Given the description of an element on the screen output the (x, y) to click on. 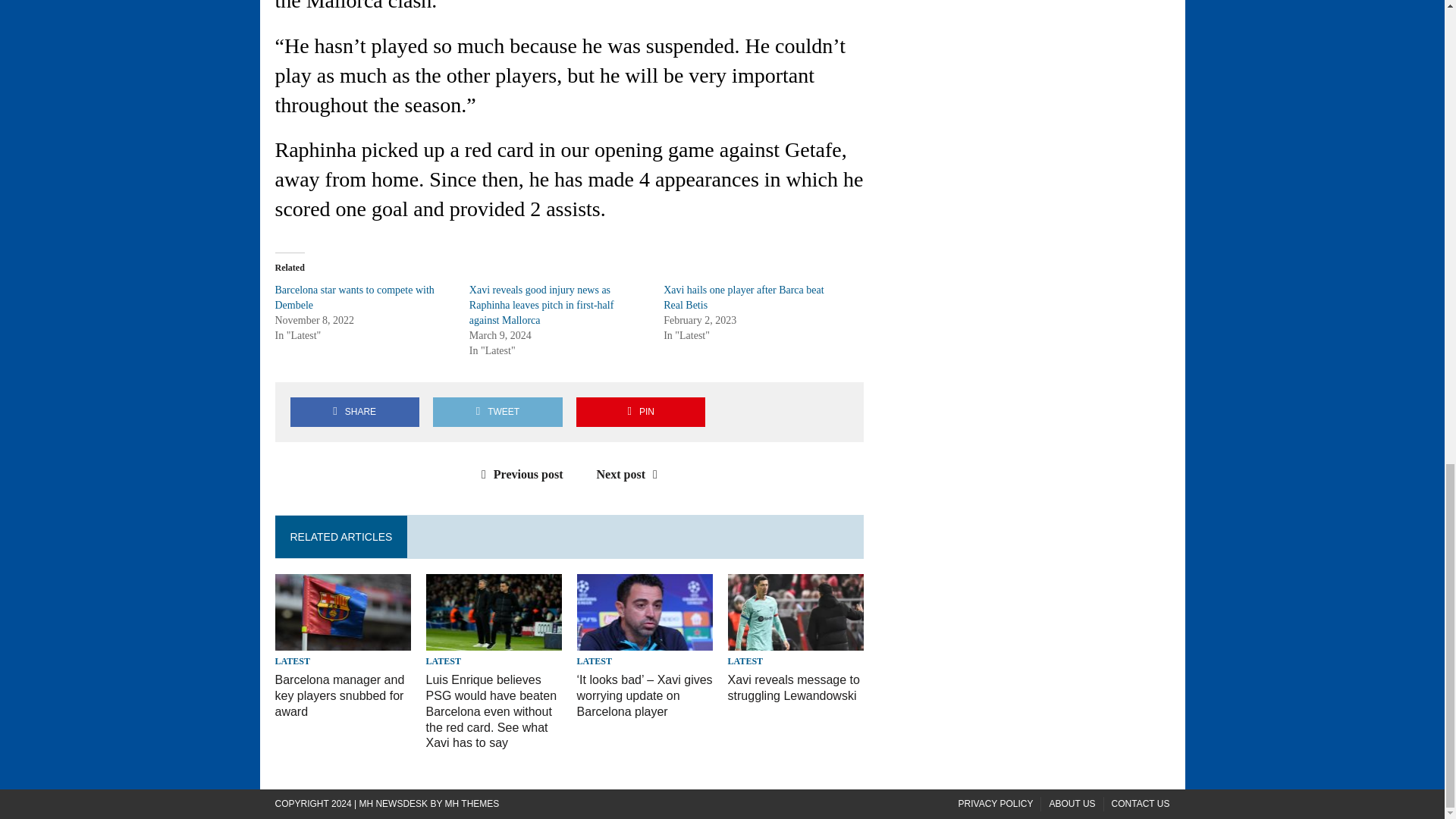
Barcelona manager and key players snubbed for award (339, 695)
PRIVACY POLICY (995, 803)
LATEST (443, 661)
Barcelona star wants to compete with Dembele (354, 297)
ABOUT US (1071, 803)
LATEST (593, 661)
Xavi reveals message to struggling Lewandowski (794, 687)
Xavi hails one player after Barca beat Real Betis (743, 297)
SHARE (354, 411)
Barcelona star wants to compete with Dembele (354, 297)
Previous post (518, 473)
Next post (630, 473)
